Given the description of an element on the screen output the (x, y) to click on. 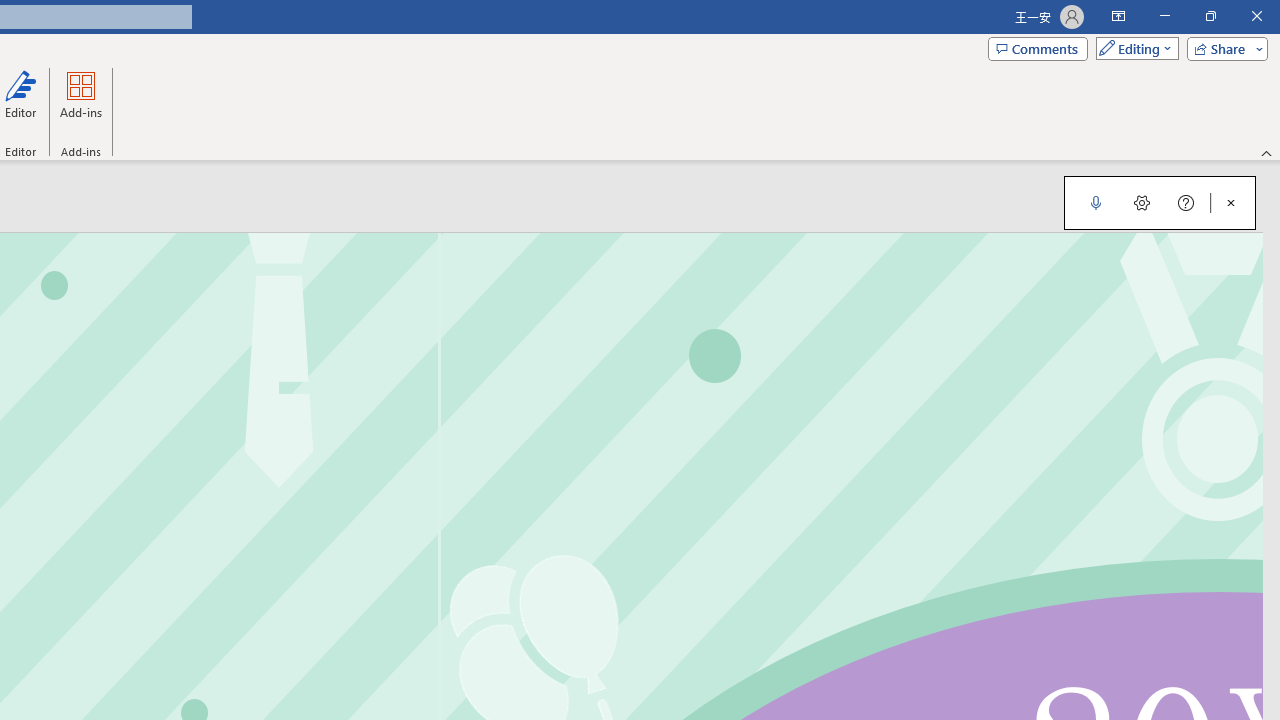
Close Dictation (1231, 202)
